Given the description of an element on the screen output the (x, y) to click on. 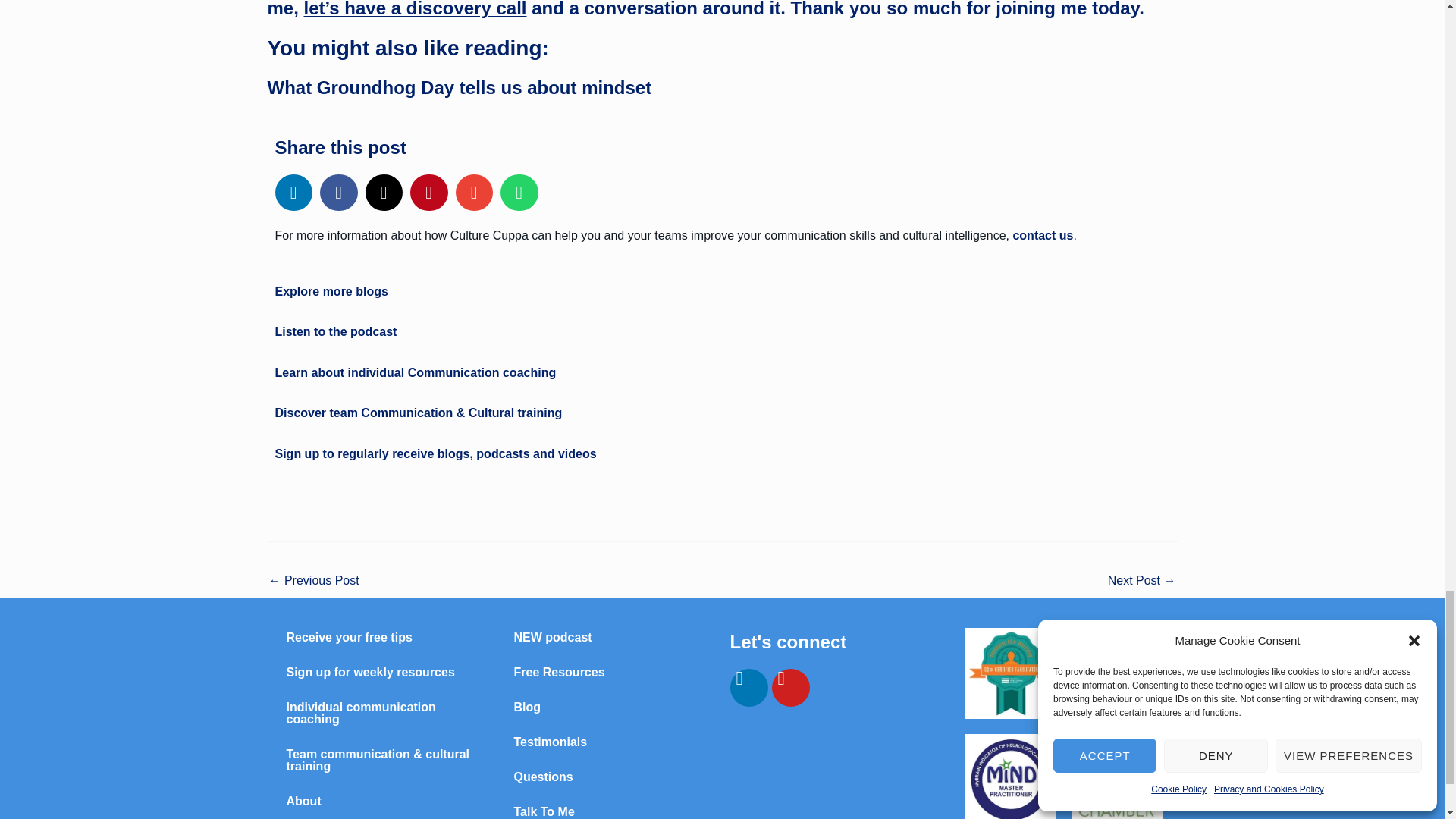
What Groundhog Day tells us about mindset (458, 86)
What Groundhog Day tells us about mindset (312, 582)
